Given the description of an element on the screen output the (x, y) to click on. 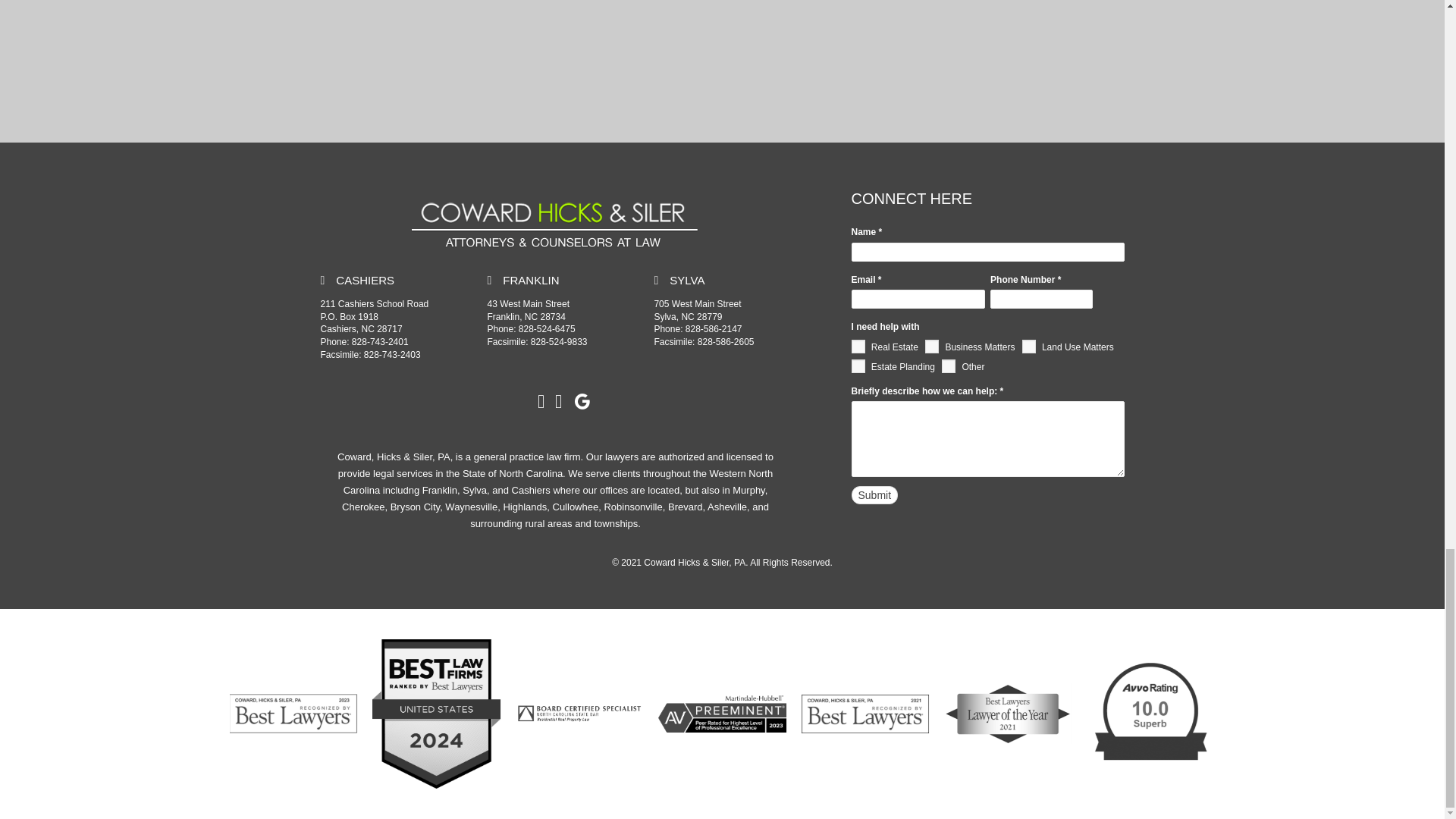
slideshow (554, 221)
Land Use Matters (1028, 345)
Estate Planding (857, 366)
Other (948, 366)
Business Matters (931, 345)
Submit (874, 495)
Real Estate (857, 345)
